Given the description of an element on the screen output the (x, y) to click on. 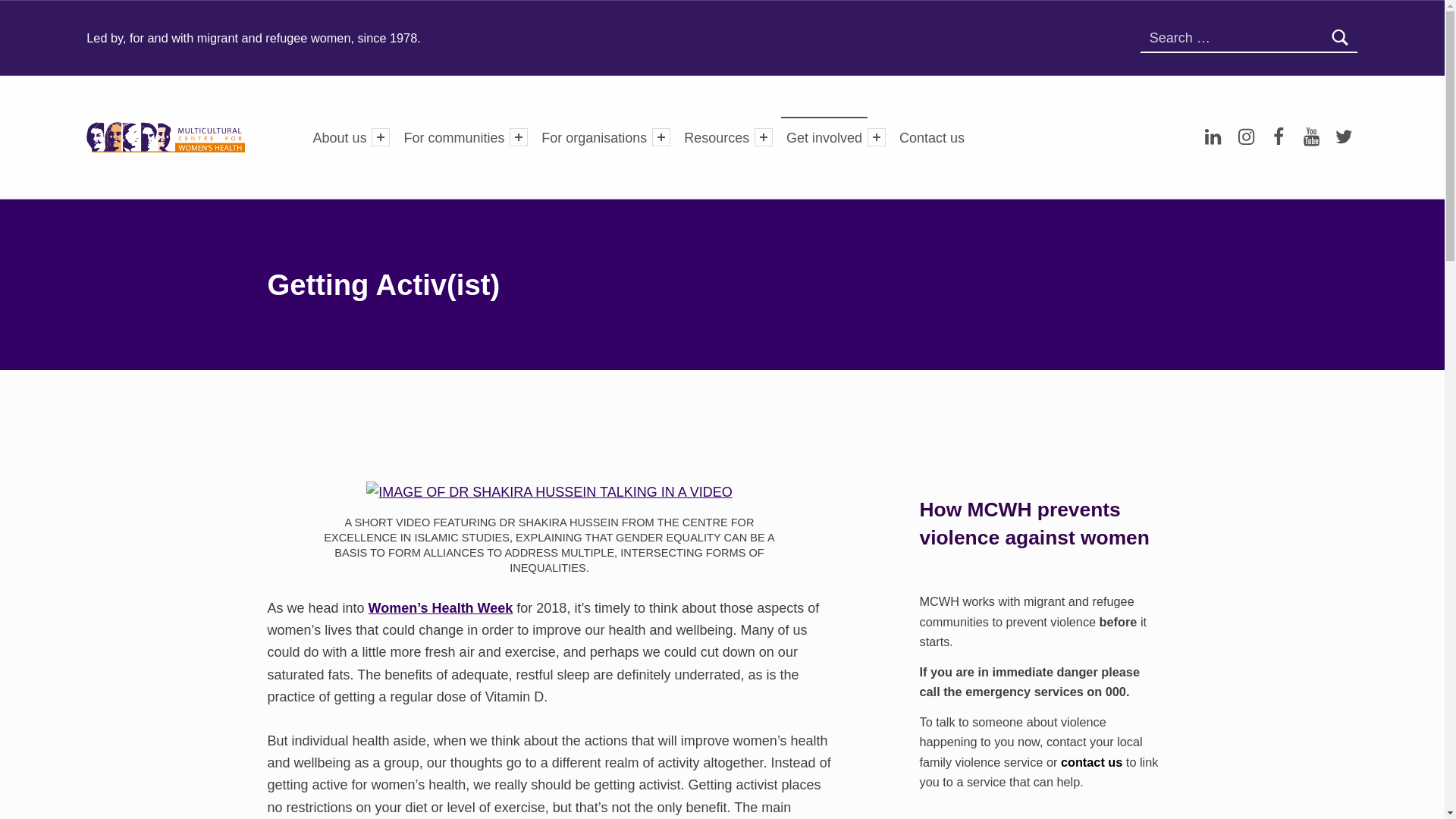
MCWH on Youtube Element type: text (1311, 137)
Resources Element type: text (716, 136)
Contact us Element type: text (931, 136)
For organisations Element type: text (594, 136)
Get involved Element type: text (824, 136)
MCWH on Instagram Element type: text (1245, 137)
MCWH on Facebook Element type: text (1278, 137)
Multicultural Centre For Women's Health Element type: text (255, 134)
MCWH on Linkedin Element type: text (1213, 137)
MCWH on Twitter Element type: text (1343, 137)
For communities Element type: text (454, 136)
Search Element type: text (1339, 37)
About us Element type: text (339, 136)
contact us Element type: text (1091, 761)
